Given the description of an element on the screen output the (x, y) to click on. 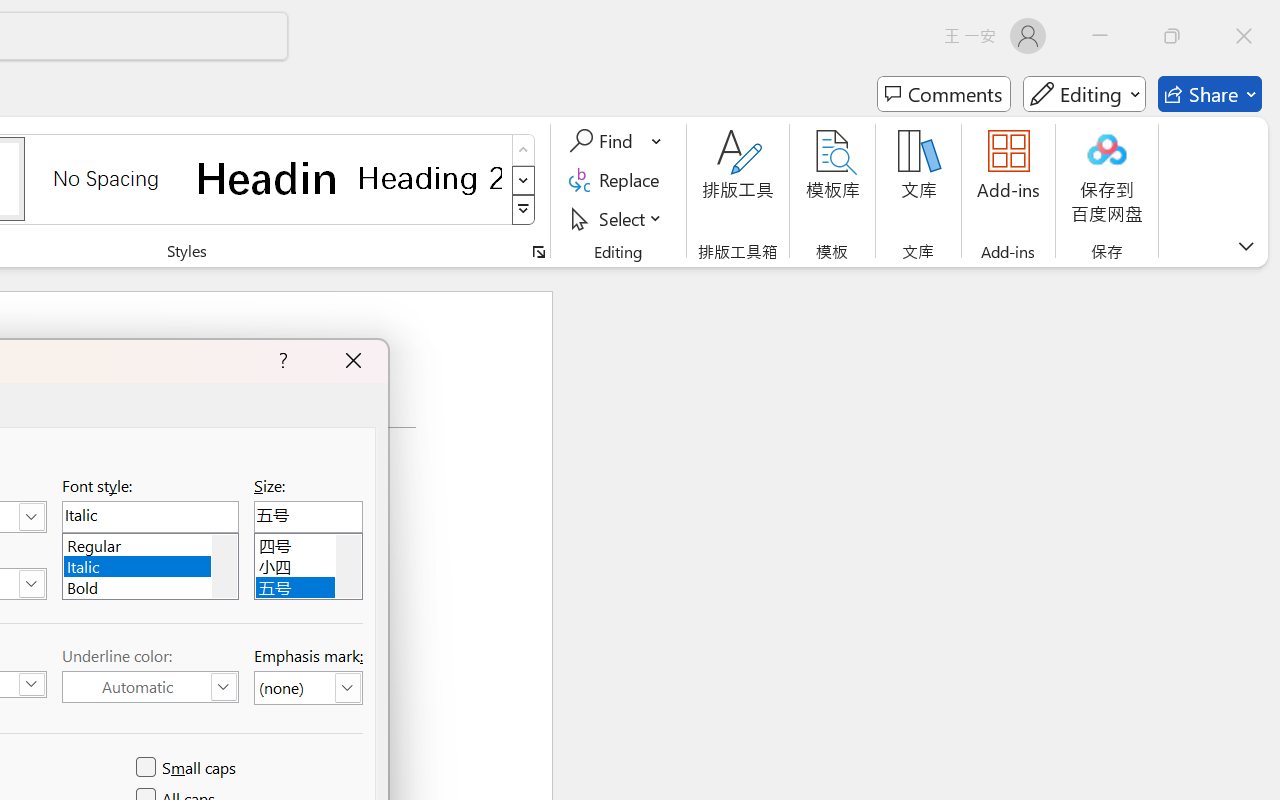
Size: (308, 516)
Styles... (538, 252)
AutomationID: 1795 (223, 566)
Row up (523, 150)
